Given the description of an element on the screen output the (x, y) to click on. 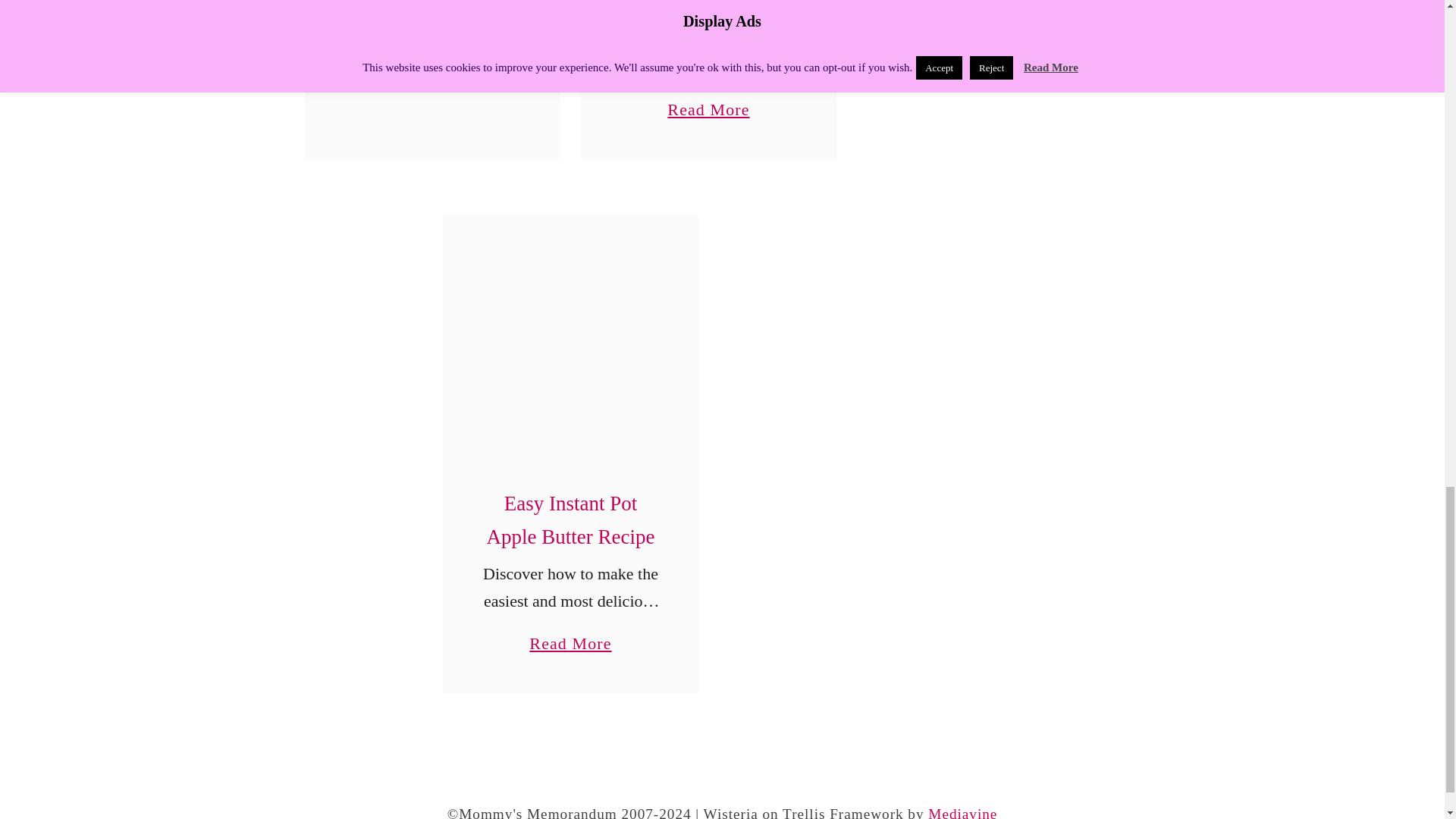
Easy Instant Pot Apple Butter Recipe (570, 519)
Easy Instant Pot Apple Butter Recipe (570, 342)
Homemade Wine Slushies Recipe (570, 636)
